Given the description of an element on the screen output the (x, y) to click on. 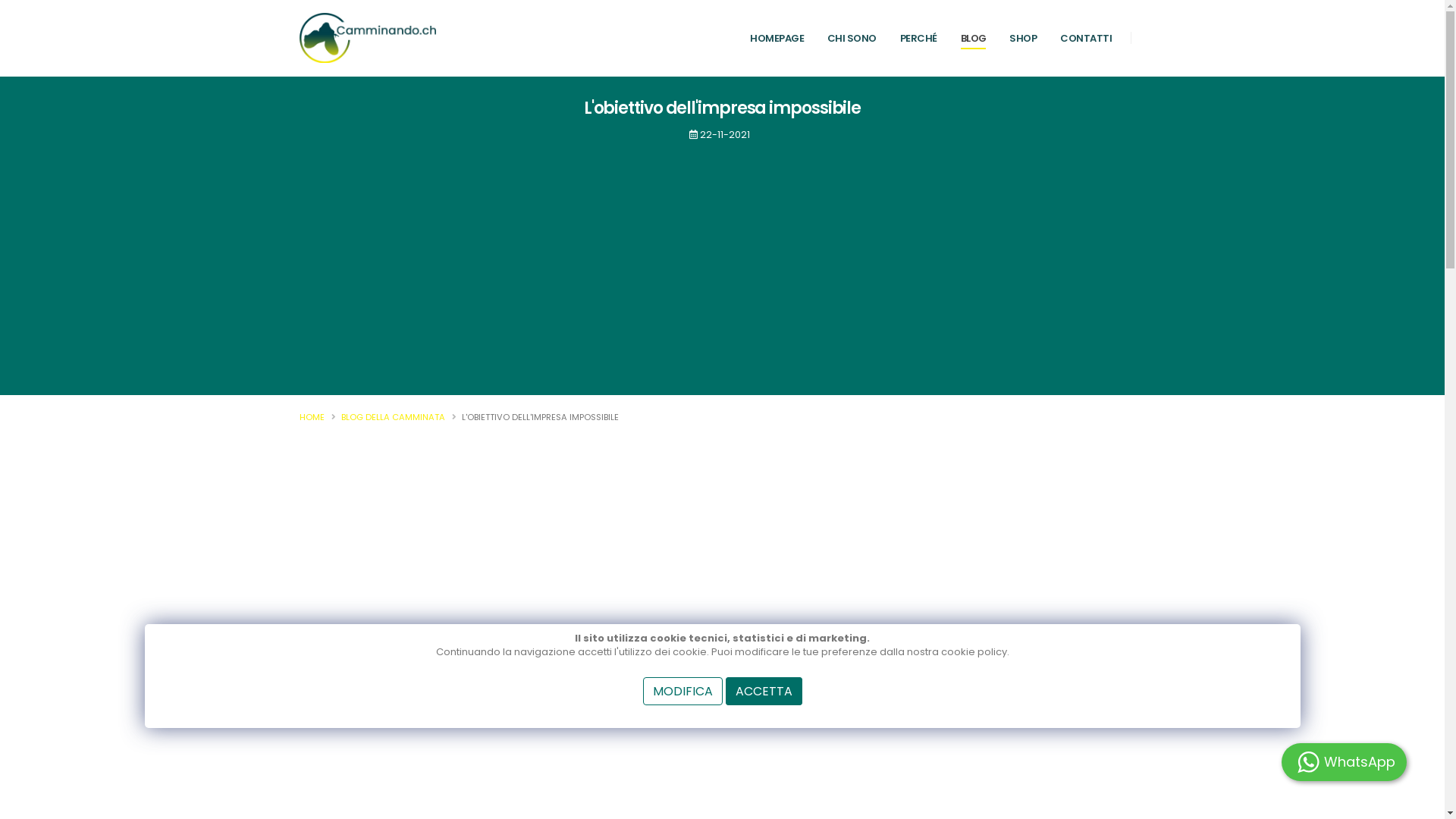
CHI SONO Element type: text (852, 38)
MODIFICA Element type: text (682, 691)
Advertisement Element type: hover (721, 258)
HOMEPAGE Element type: text (777, 38)
HOME Element type: text (310, 417)
BLOG DELLA CAMMINATA Element type: text (393, 417)
BLOG Element type: text (973, 38)
SHOP Element type: text (1023, 38)
ACCETTA Element type: text (762, 691)
CONTATTI Element type: text (1086, 38)
